Given the description of an element on the screen output the (x, y) to click on. 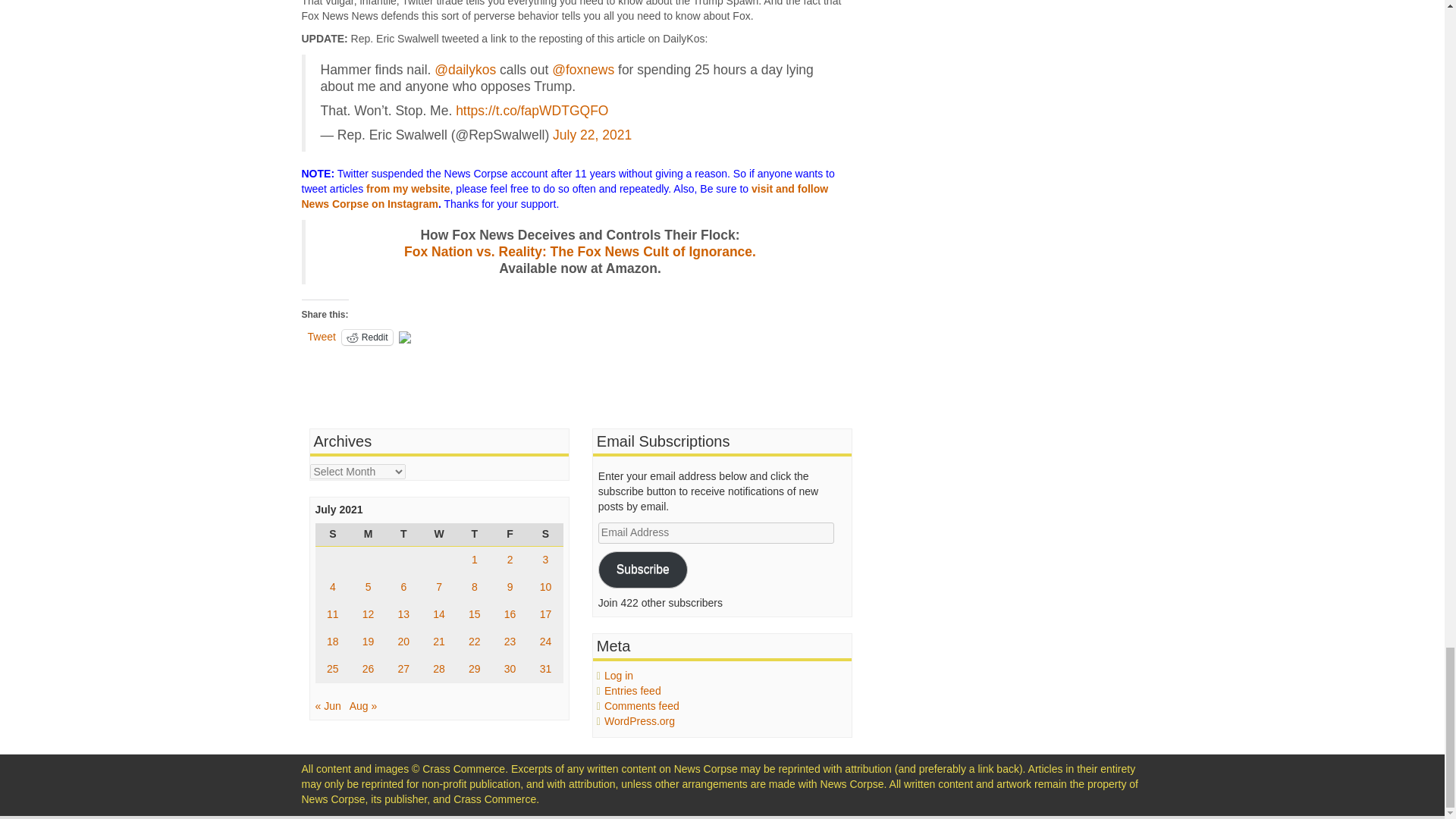
Monday (367, 534)
Wednesday (439, 534)
Tuesday (403, 534)
Click to share on Reddit (367, 337)
Sunday (332, 534)
